Given the description of an element on the screen output the (x, y) to click on. 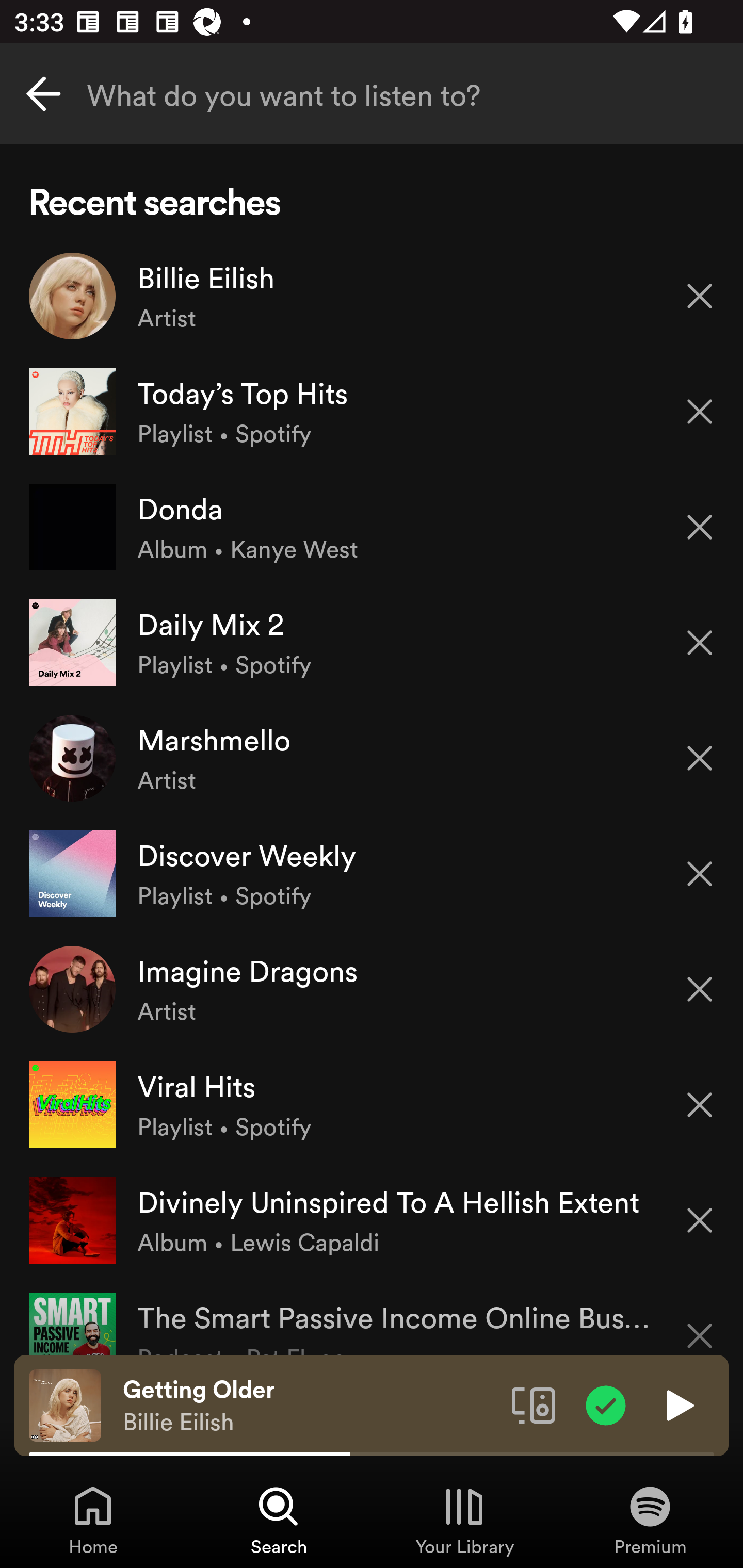
What do you want to listen to? (371, 93)
Cancel (43, 93)
Billie Eilish Artist Remove (371, 296)
Remove (699, 295)
Today’s Top Hits Playlist • Spotify Remove (371, 411)
Remove (699, 411)
Donda Album • Kanye West Remove (371, 526)
Remove (699, 527)
Daily Mix 2 Playlist • Spotify Remove (371, 642)
Remove (699, 642)
Marshmello Artist Remove (371, 757)
Remove (699, 758)
Discover Weekly Playlist • Spotify Remove (371, 873)
Remove (699, 874)
Imagine Dragons Artist Remove (371, 989)
Remove (699, 989)
Viral Hits Playlist • Spotify Remove (371, 1104)
Remove (699, 1104)
Remove (699, 1220)
